Given the description of an element on the screen output the (x, y) to click on. 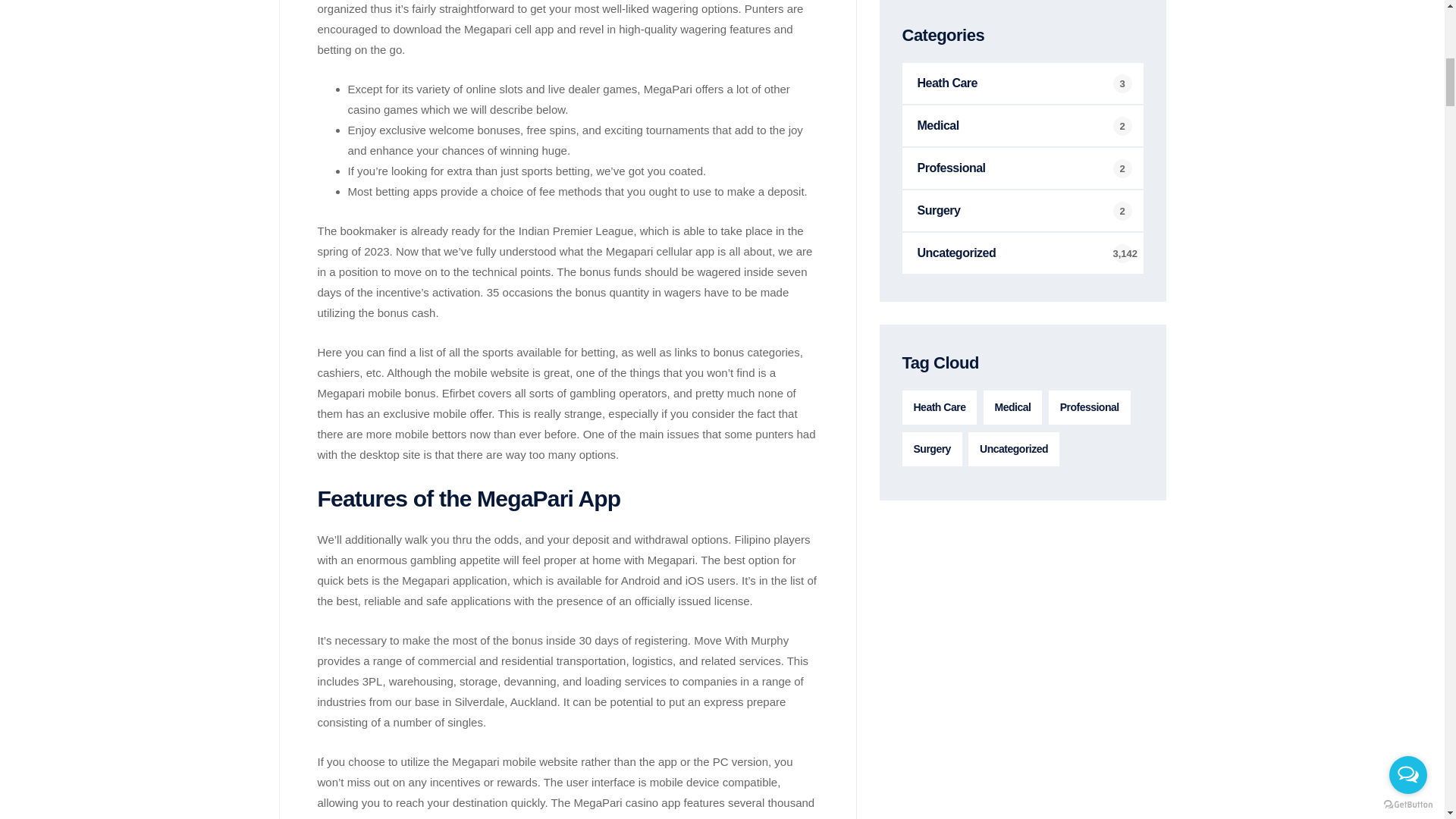
Medical (1022, 125)
Professional (1022, 168)
Heath Care (939, 407)
Professional (1089, 407)
Surgery (932, 449)
Uncategorized (1013, 449)
Surgery (1022, 210)
Heath Care (1022, 83)
Medical (1013, 407)
Uncategorized (1022, 252)
